Given the description of an element on the screen output the (x, y) to click on. 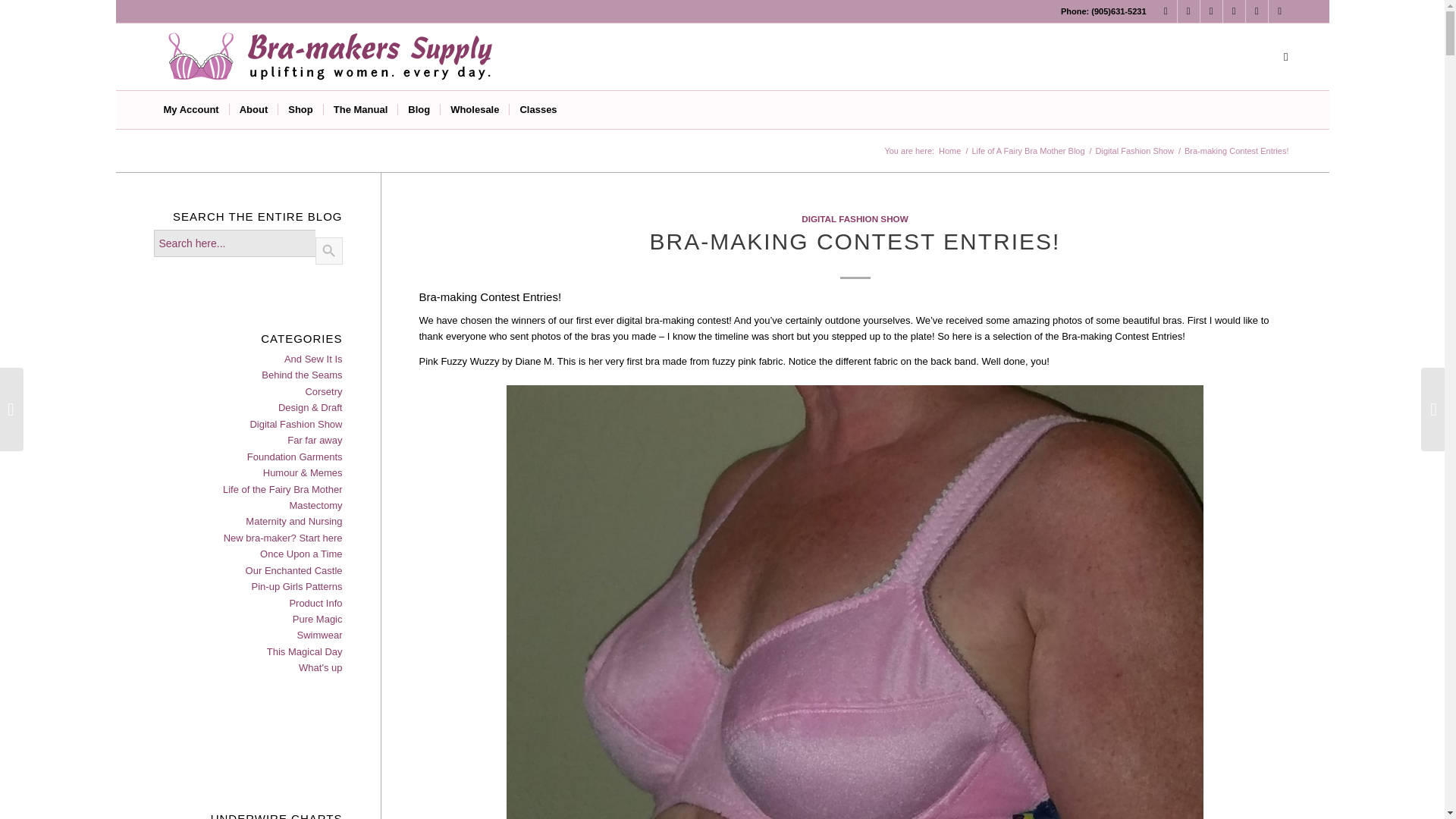
Shop (300, 109)
My Account (190, 109)
Facebook (1165, 11)
About (253, 109)
Instagram (1187, 11)
Life of A Fairy Bra Mother Blog (1027, 151)
